Given the description of an element on the screen output the (x, y) to click on. 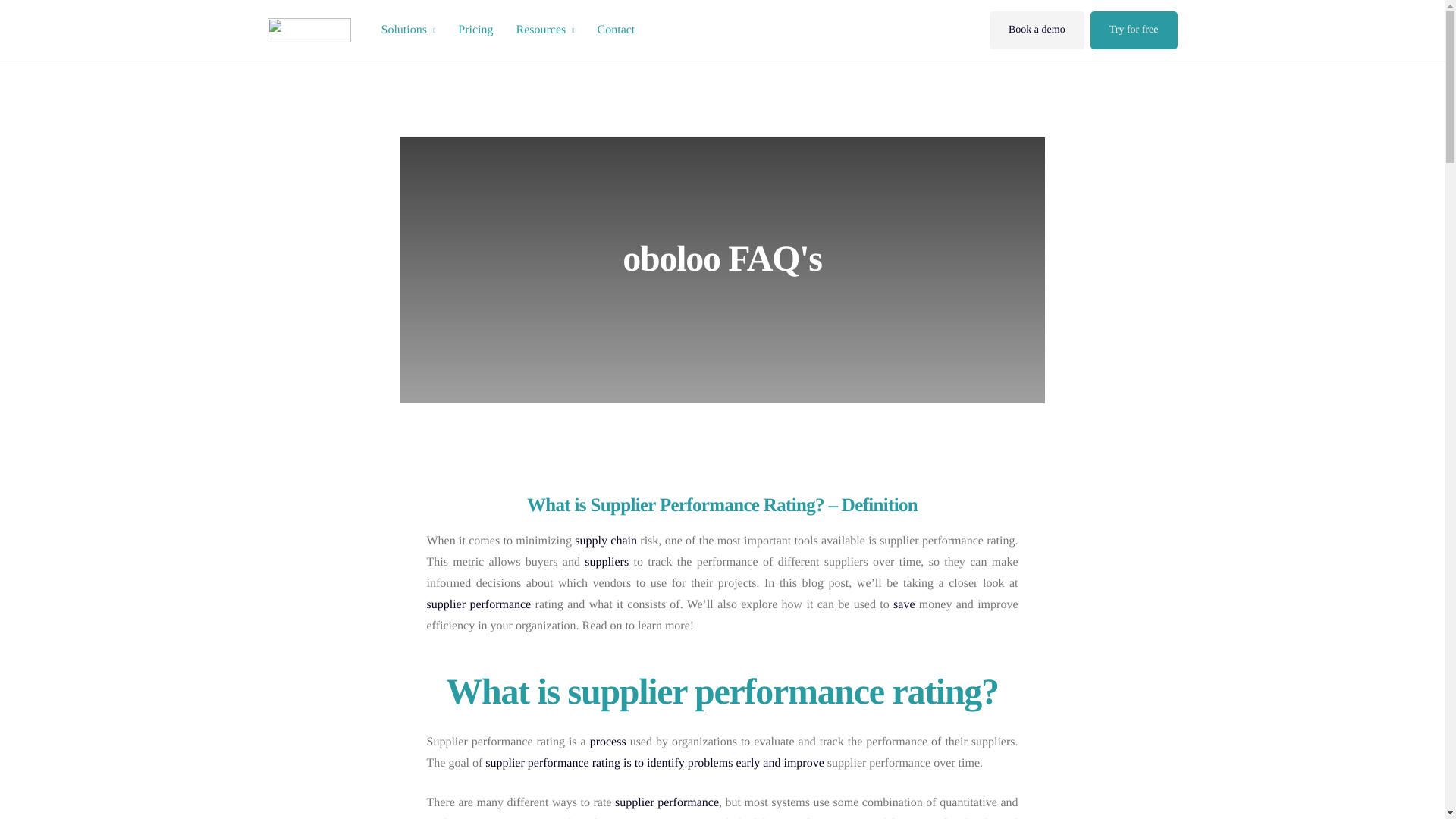
supply chain (606, 540)
Solutions (407, 30)
supplier performance (478, 603)
save (903, 603)
Resources (544, 30)
Contact (615, 30)
quality (943, 818)
Try for free (1133, 30)
Pricing (475, 30)
Book a demo (1037, 30)
suppliers (606, 561)
process (607, 741)
supplier performance (478, 603)
